Given the description of an element on the screen output the (x, y) to click on. 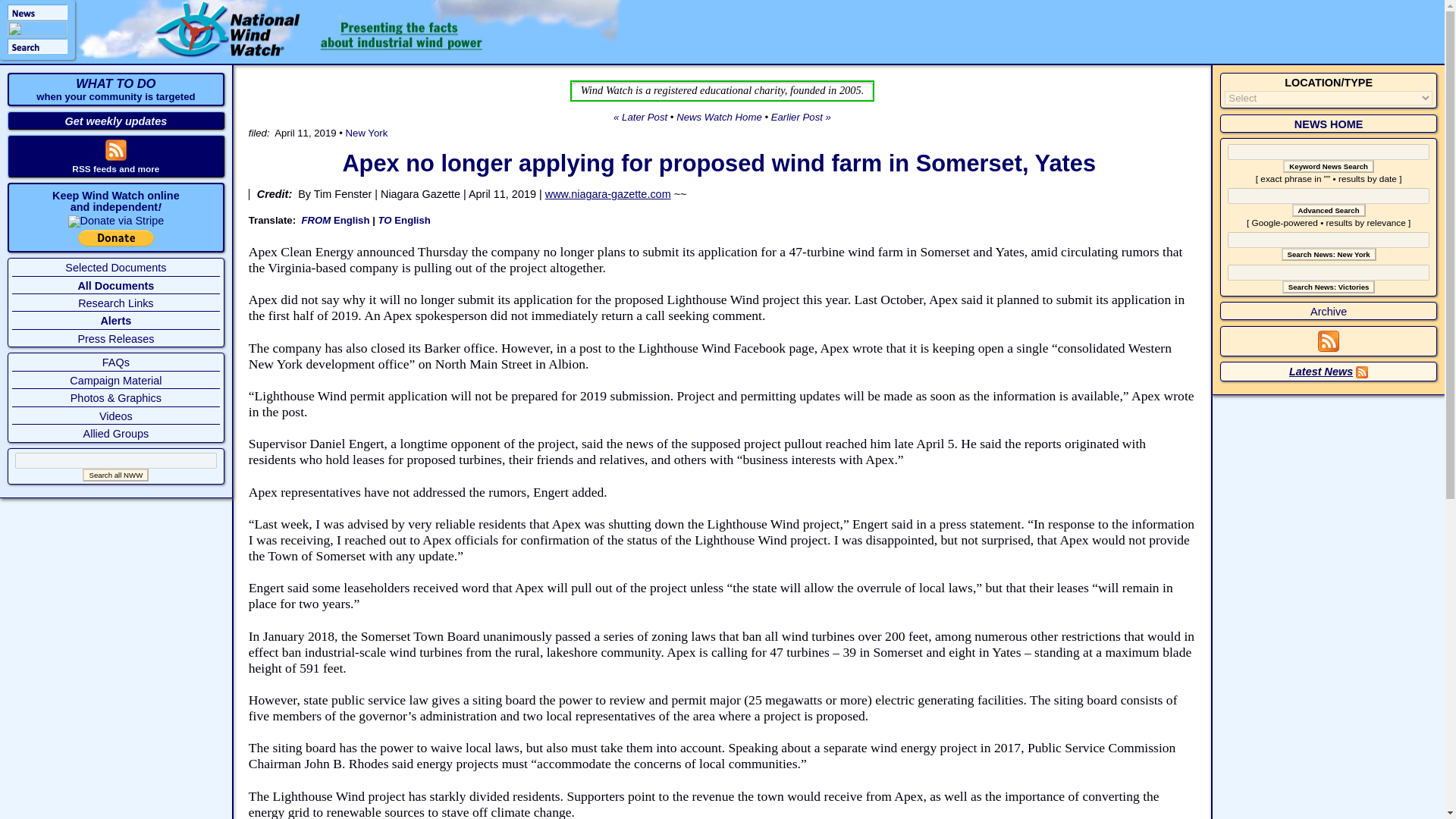
Search all NWW (115, 474)
Get weekly updates (116, 121)
Videos (115, 416)
Donate via Stripe (116, 220)
Advanced Search (1328, 210)
Search News: Victories (1328, 286)
Keyword News Search (1328, 165)
Press Releases (115, 338)
Search all NWW (115, 474)
Latest News (1320, 371)
